Given the description of an element on the screen output the (x, y) to click on. 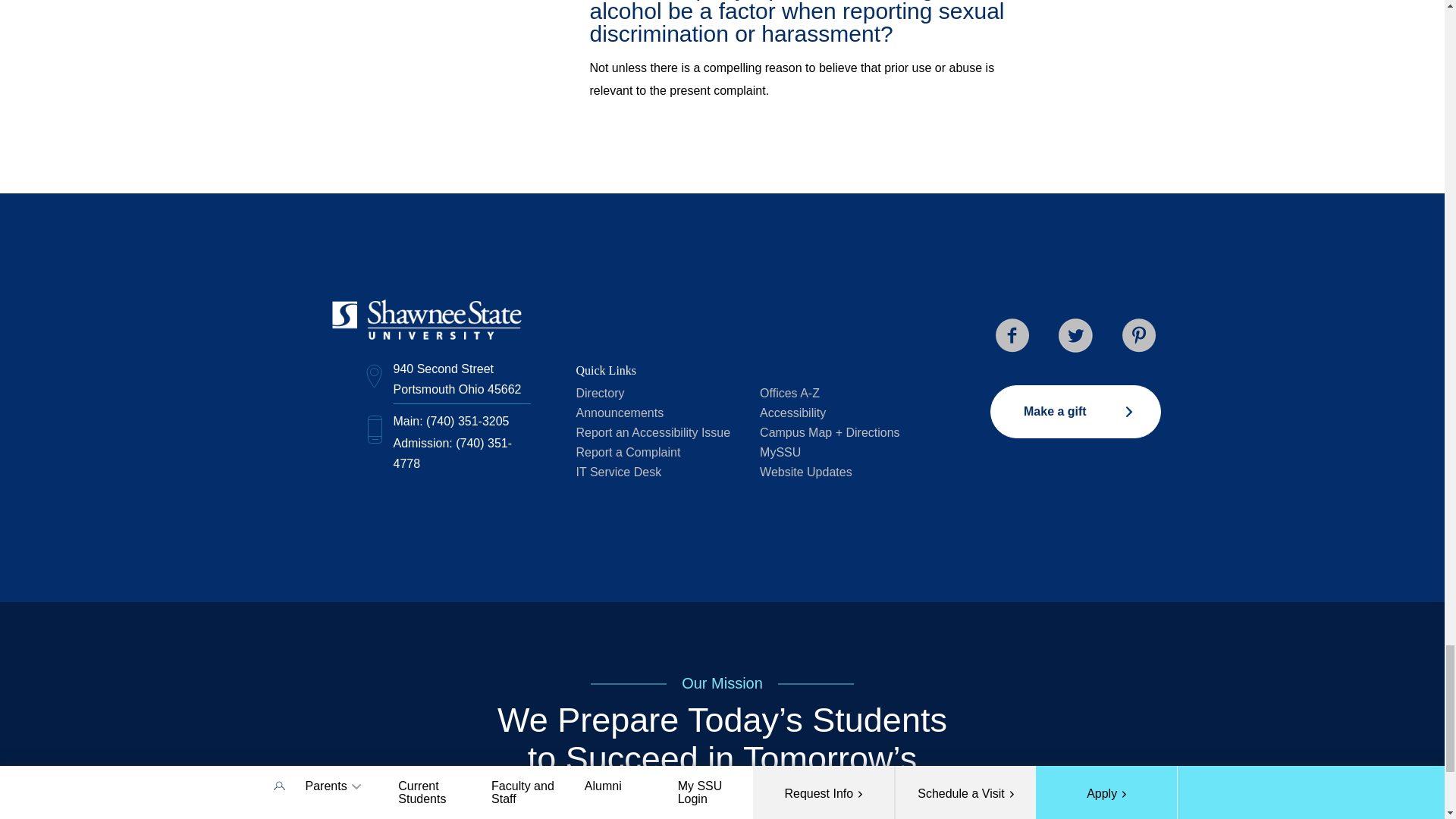
Pinterest Image (1139, 335)
Facebook Image (1012, 335)
